Given the description of an element on the screen output the (x, y) to click on. 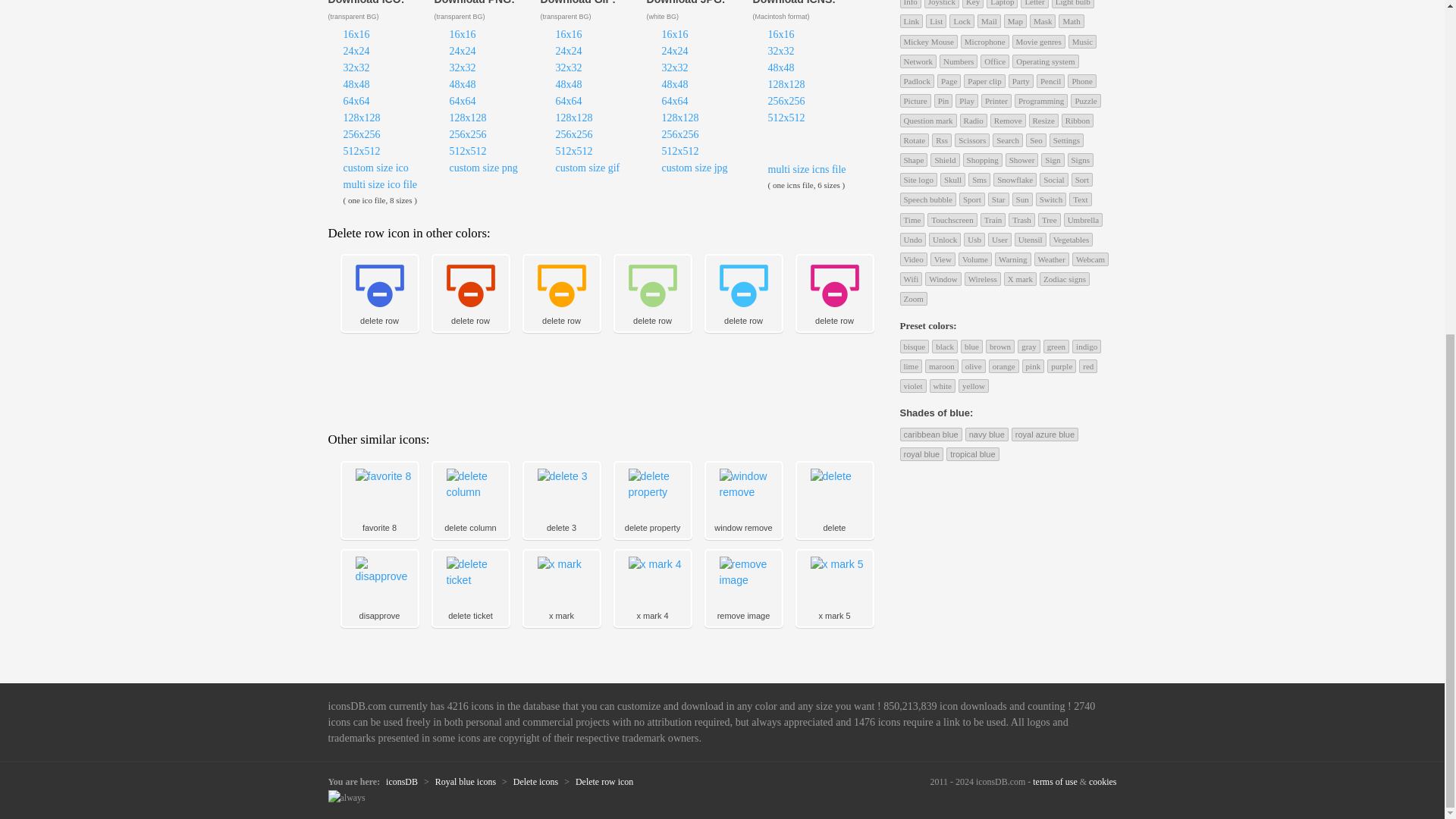
16x16 (462, 34)
24x24 (355, 50)
128x128 (361, 117)
24x24 (567, 50)
256x256 (361, 134)
multi size ico file (379, 184)
512x512 (573, 151)
multi size icns file (806, 169)
512x512 (361, 151)
16x16 (567, 34)
custom size png (482, 167)
Orange delete row icon (560, 285)
64x64 (355, 101)
Royal blue delete row icon (378, 285)
512x512 (467, 151)
